Given the description of an element on the screen output the (x, y) to click on. 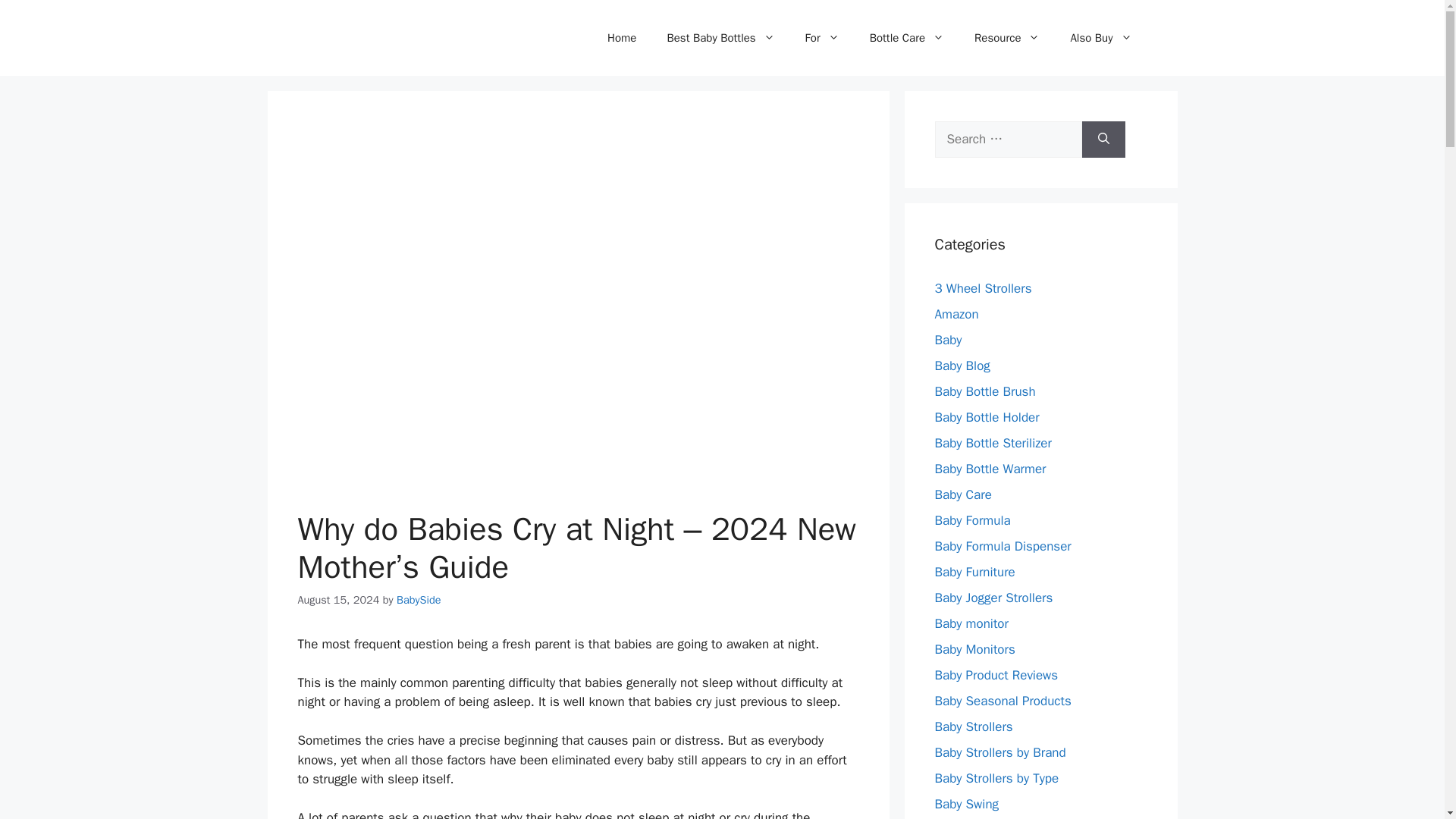
Best Baby Bottles (719, 37)
Home (621, 37)
Bottle Care (906, 37)
Resource (1006, 37)
For (822, 37)
View all posts by BabySide (418, 599)
Also Buy (1100, 37)
BabySide (418, 599)
